Given the description of an element on the screen output the (x, y) to click on. 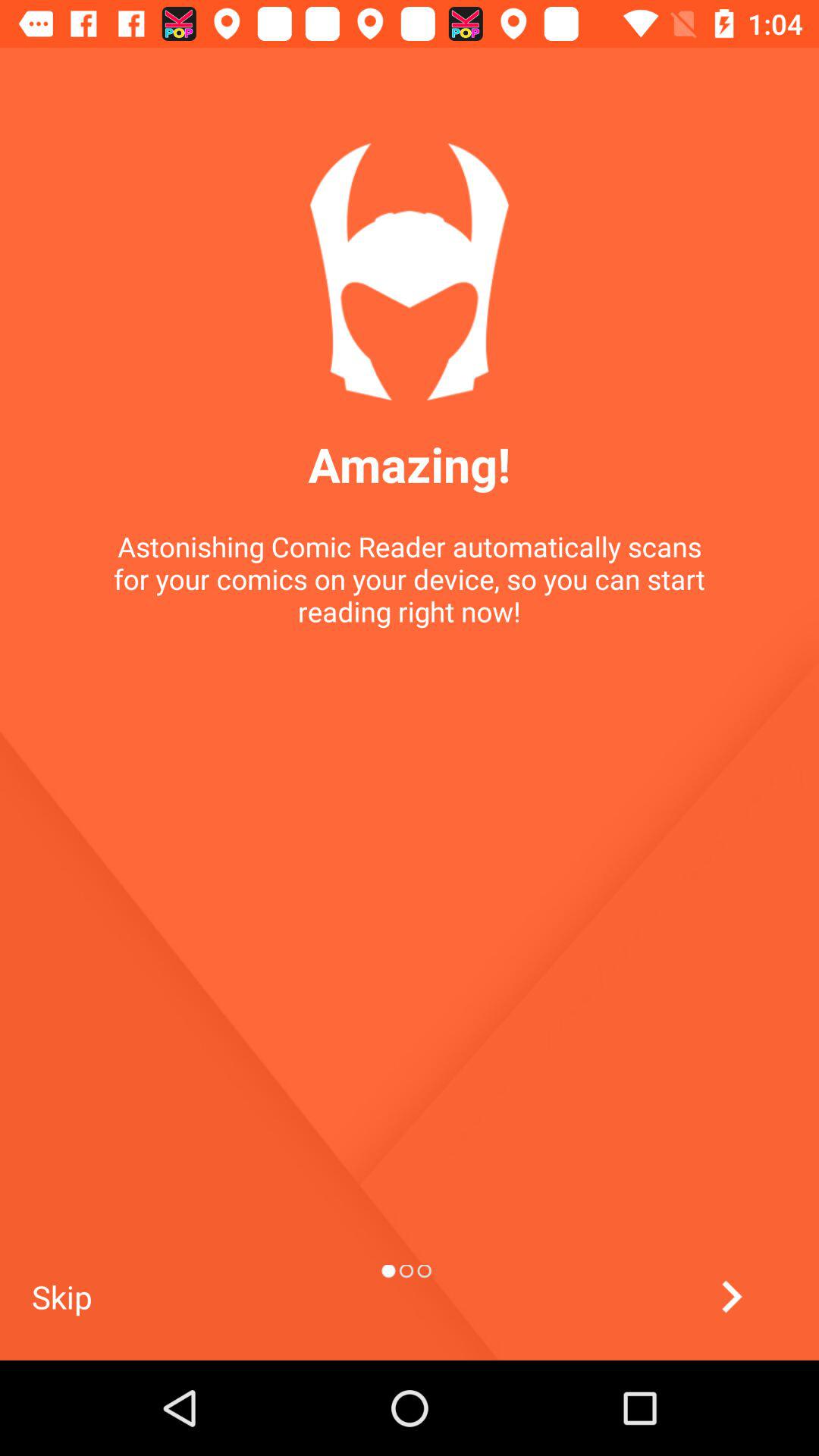
to go prerivous (731, 1296)
